Given the description of an element on the screen output the (x, y) to click on. 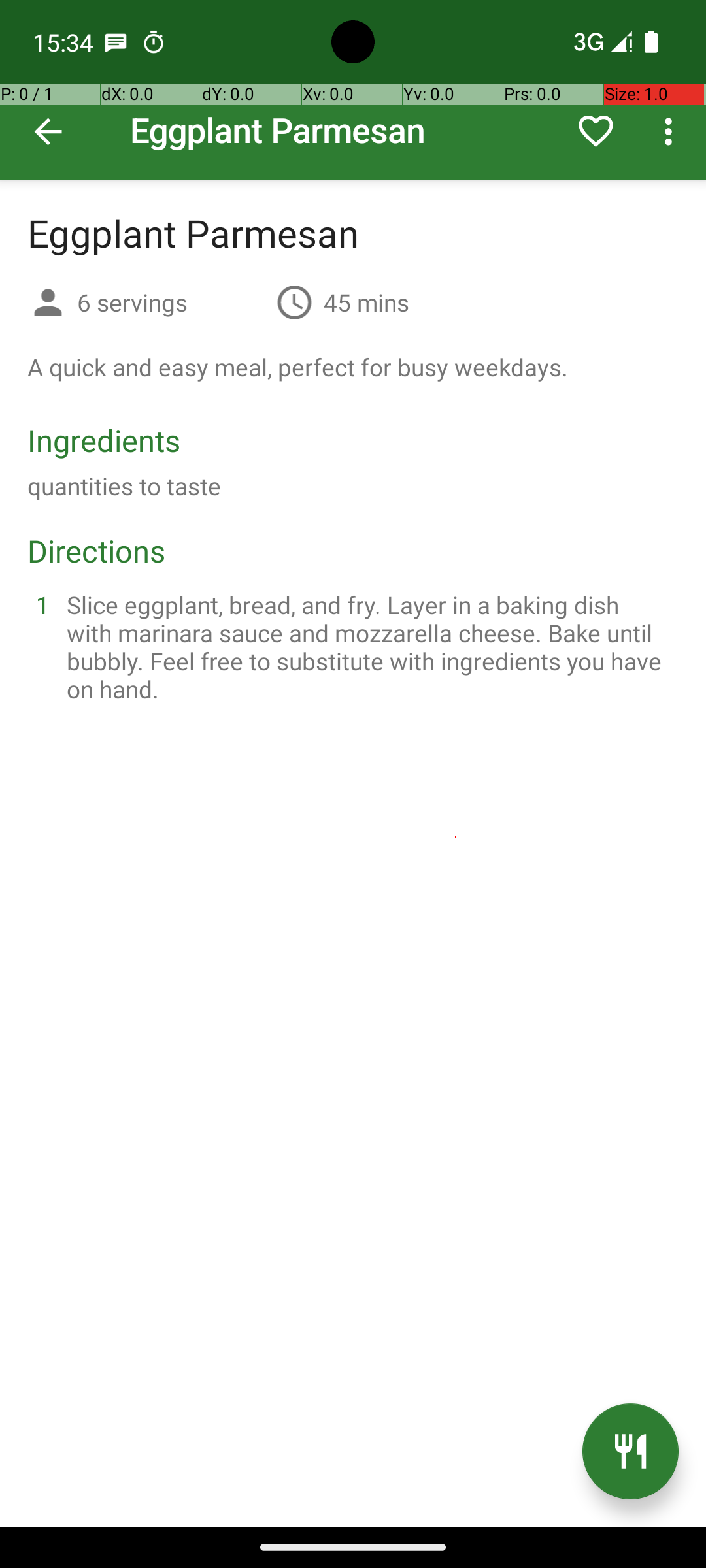
Slice eggplant, bread, and fry. Layer in a baking dish with marinara sauce and mozzarella cheese. Bake until bubbly. Feel free to substitute with ingredients you have on hand. Element type: android.widget.TextView (368, 646)
